Given the description of an element on the screen output the (x, y) to click on. 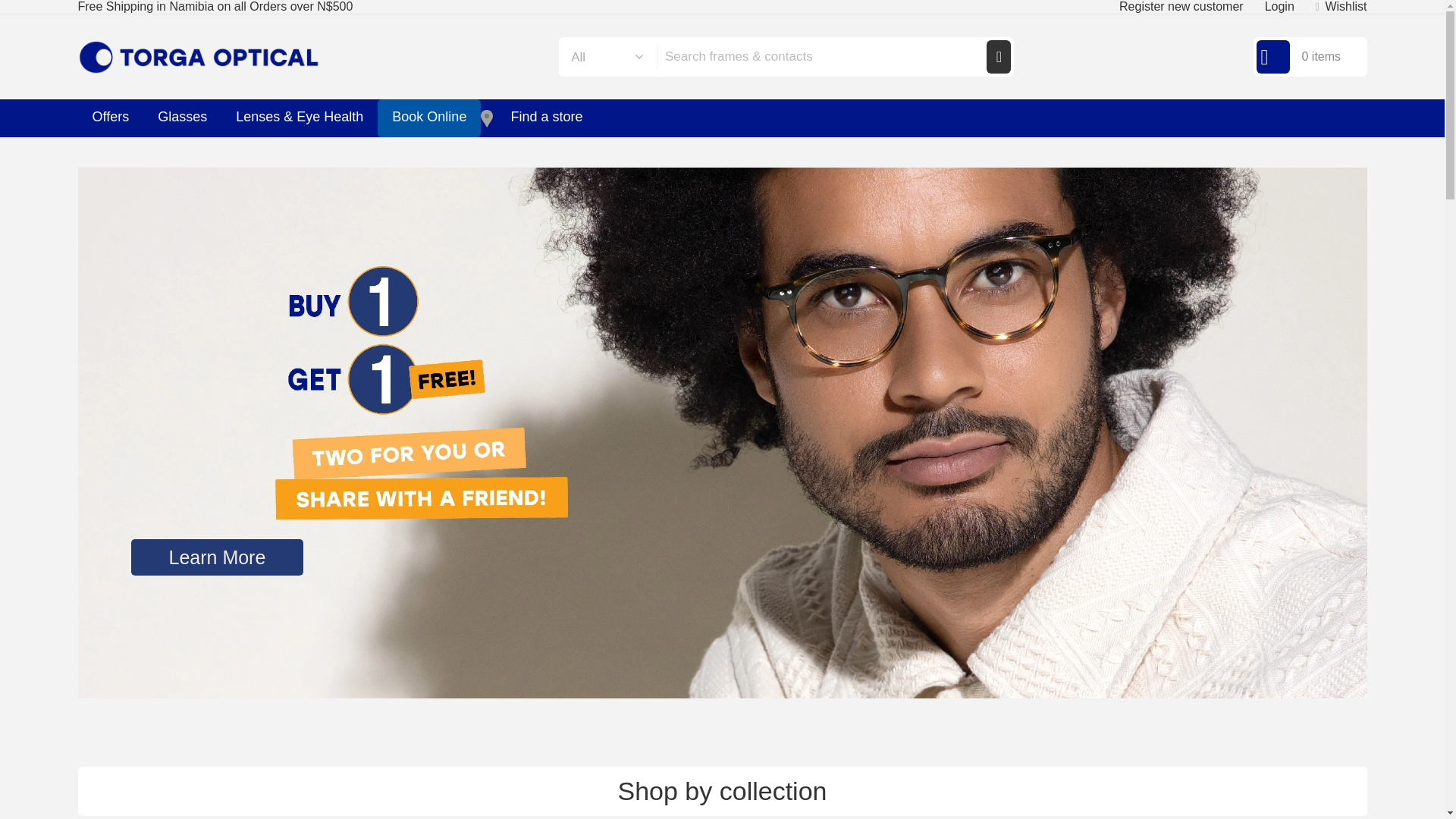
Register new customer (1181, 6)
Glasses (181, 118)
Login (1279, 6)
Offers (109, 118)
Wishlist (1341, 6)
0 items (1309, 56)
